Given the description of an element on the screen output the (x, y) to click on. 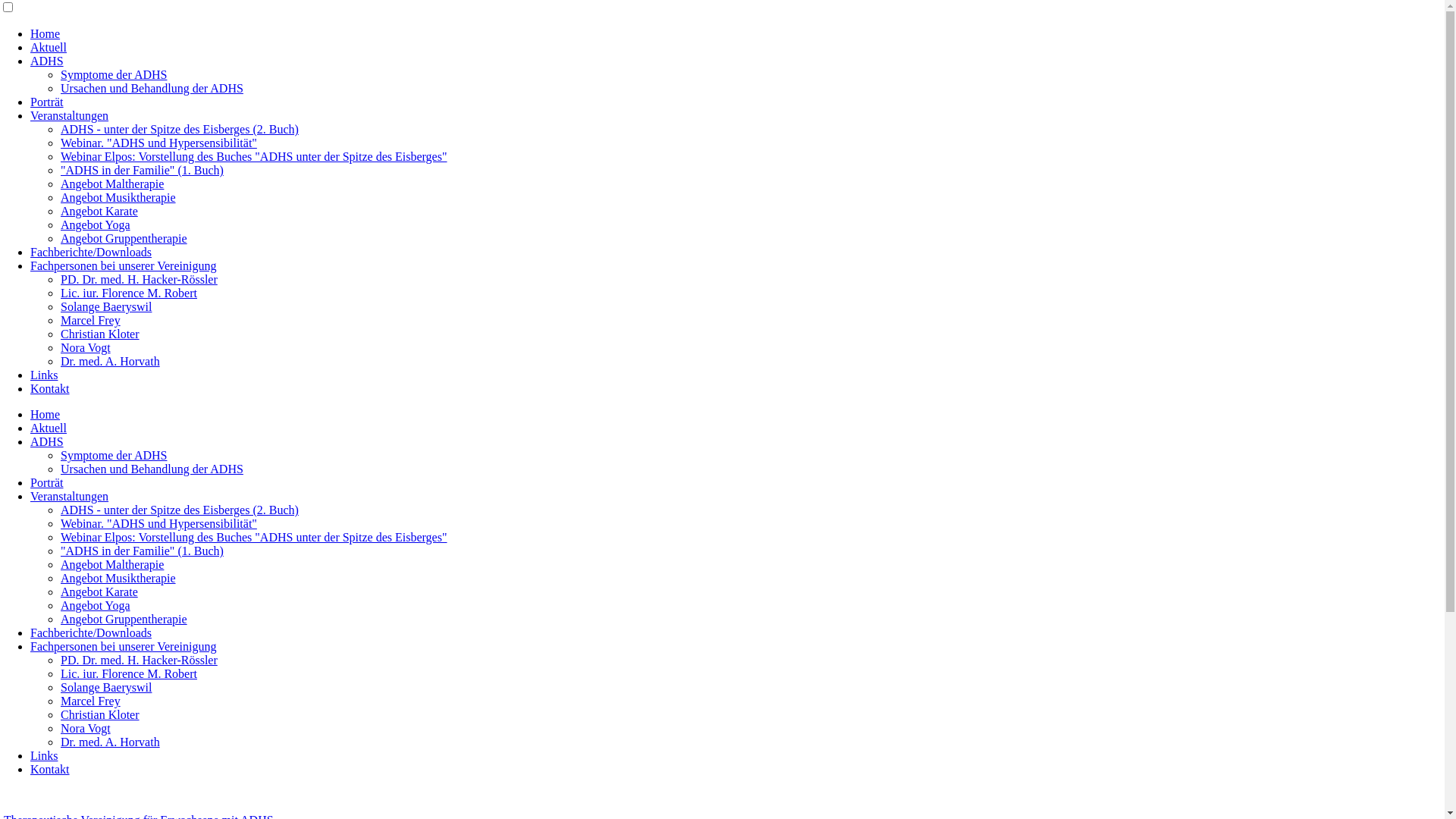
Veranstaltungen Element type: text (69, 115)
Ursachen und Behandlung der ADHS Element type: text (151, 87)
Nora Vogt Element type: text (85, 727)
Aktuell Element type: text (48, 46)
ADHS - unter der Spitze des Eisberges (2. Buch) Element type: text (179, 128)
Fachberichte/Downloads Element type: text (90, 632)
Fachberichte/Downloads Element type: text (90, 251)
Angebot Maltherapie Element type: text (111, 183)
Home Element type: text (44, 413)
Fachpersonen bei unserer Vereinigung Element type: text (123, 265)
Angebot Maltherapie Element type: text (111, 564)
Angebot Karate Element type: text (99, 210)
Angebot Gruppentherapie Element type: text (123, 238)
Links Element type: text (43, 374)
Angebot Yoga Element type: text (95, 224)
ADHS Element type: text (46, 441)
Angebot Musiktherapie Element type: text (117, 577)
Angebot Karate Element type: text (99, 591)
Angebot Gruppentherapie Element type: text (123, 618)
"ADHS in der Familie" (1. Buch) Element type: text (141, 550)
Aktuell Element type: text (48, 427)
Angebot Yoga Element type: text (95, 605)
Lic. iur. Florence M. Robert Element type: text (128, 292)
Home Element type: text (44, 33)
Ursachen und Behandlung der ADHS Element type: text (151, 468)
Links Element type: text (43, 755)
Marcel Frey Element type: text (90, 700)
Marcel Frey Element type: text (90, 319)
Solange Baeryswil Element type: text (105, 686)
Kontakt Element type: text (49, 768)
Angebot Musiktherapie Element type: text (117, 197)
"ADHS in der Familie" (1. Buch) Element type: text (141, 169)
ADHS Element type: text (46, 60)
Christian Kloter Element type: text (99, 333)
Nora Vogt Element type: text (85, 347)
Symptome der ADHS Element type: text (113, 74)
Solange Baeryswil Element type: text (105, 306)
Dr. med. A. Horvath Element type: text (110, 360)
ADHS - unter der Spitze des Eisberges (2. Buch) Element type: text (179, 509)
Fachpersonen bei unserer Vereinigung Element type: text (123, 646)
Kontakt Element type: text (49, 388)
Christian Kloter Element type: text (99, 714)
Dr. med. A. Horvath Element type: text (110, 741)
Veranstaltungen Element type: text (69, 495)
Symptome der ADHS Element type: text (113, 454)
Lic. iur. Florence M. Robert Element type: text (128, 673)
